Given the description of an element on the screen output the (x, y) to click on. 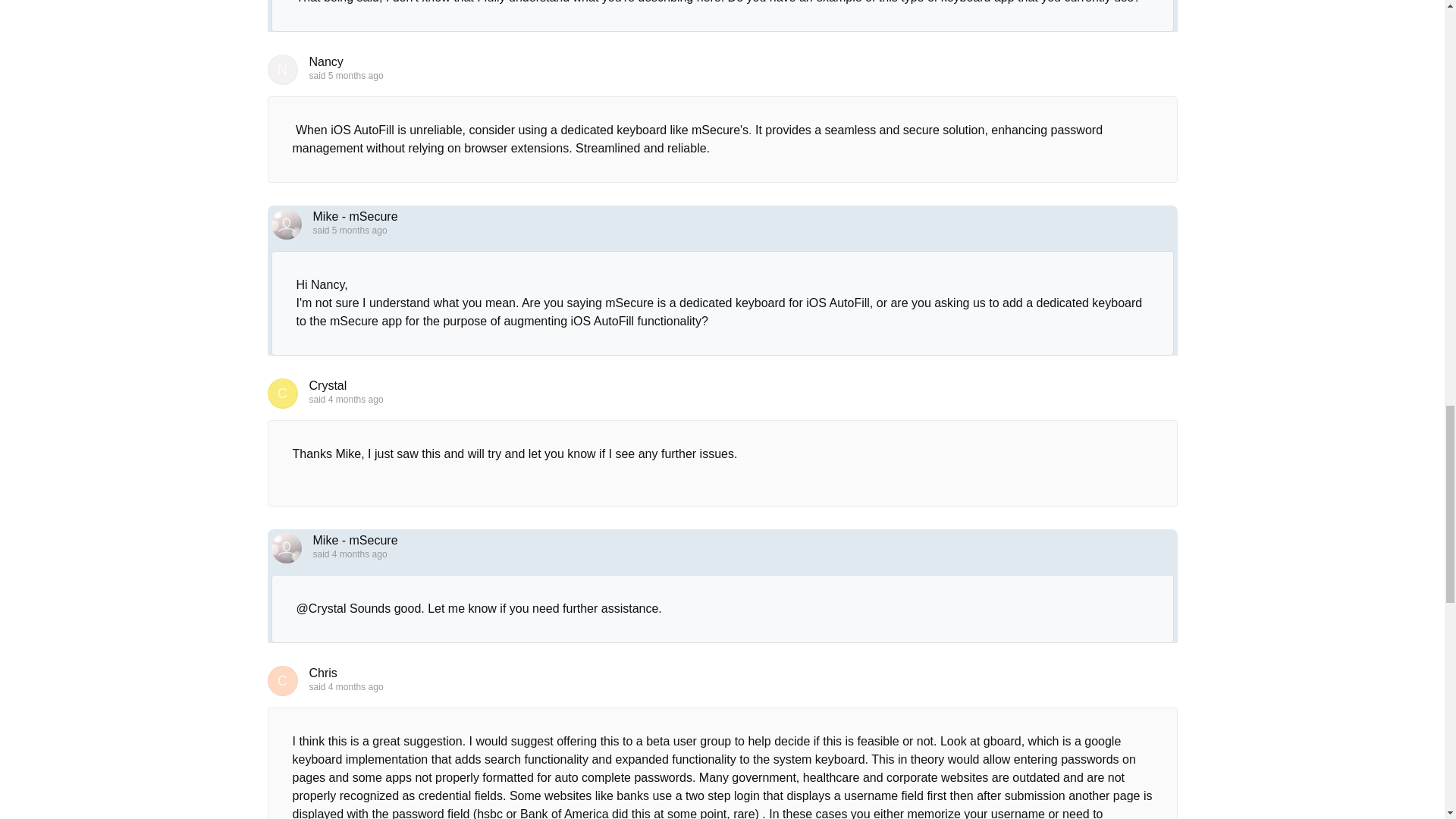
Mon, Mar 4, 2024 at  8:07 AM (359, 230)
Wed, Apr 3, 2024 at  5:32 PM (356, 398)
Fri, Mar 1, 2024 at  8:48 AM (356, 75)
Thu, Apr 4, 2024 at  8:01 AM (359, 553)
Fri, Apr 12, 2024 at  7:16 AM (356, 686)
